Given the description of an element on the screen output the (x, y) to click on. 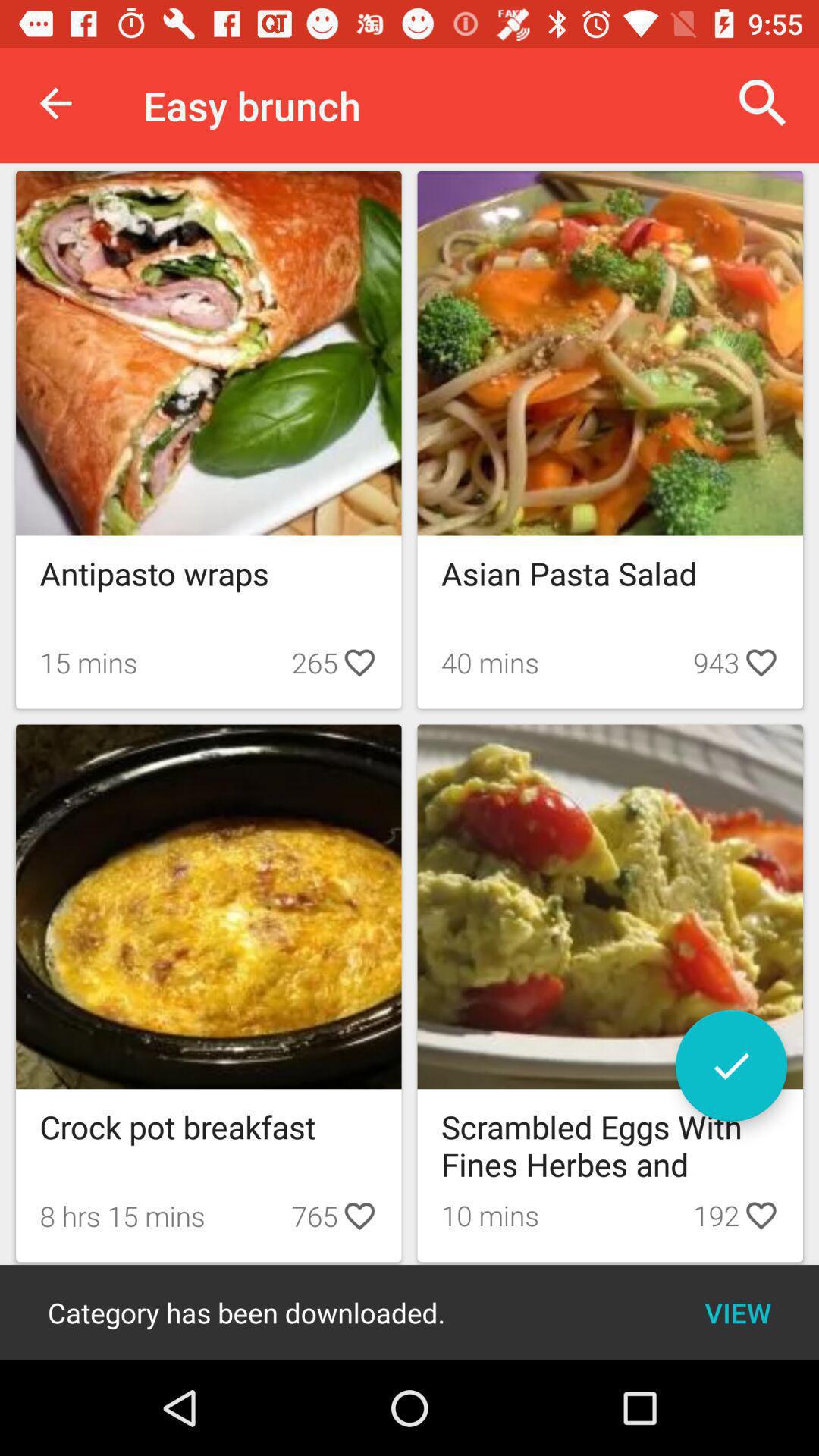
open the view item (737, 1312)
